Given the description of an element on the screen output the (x, y) to click on. 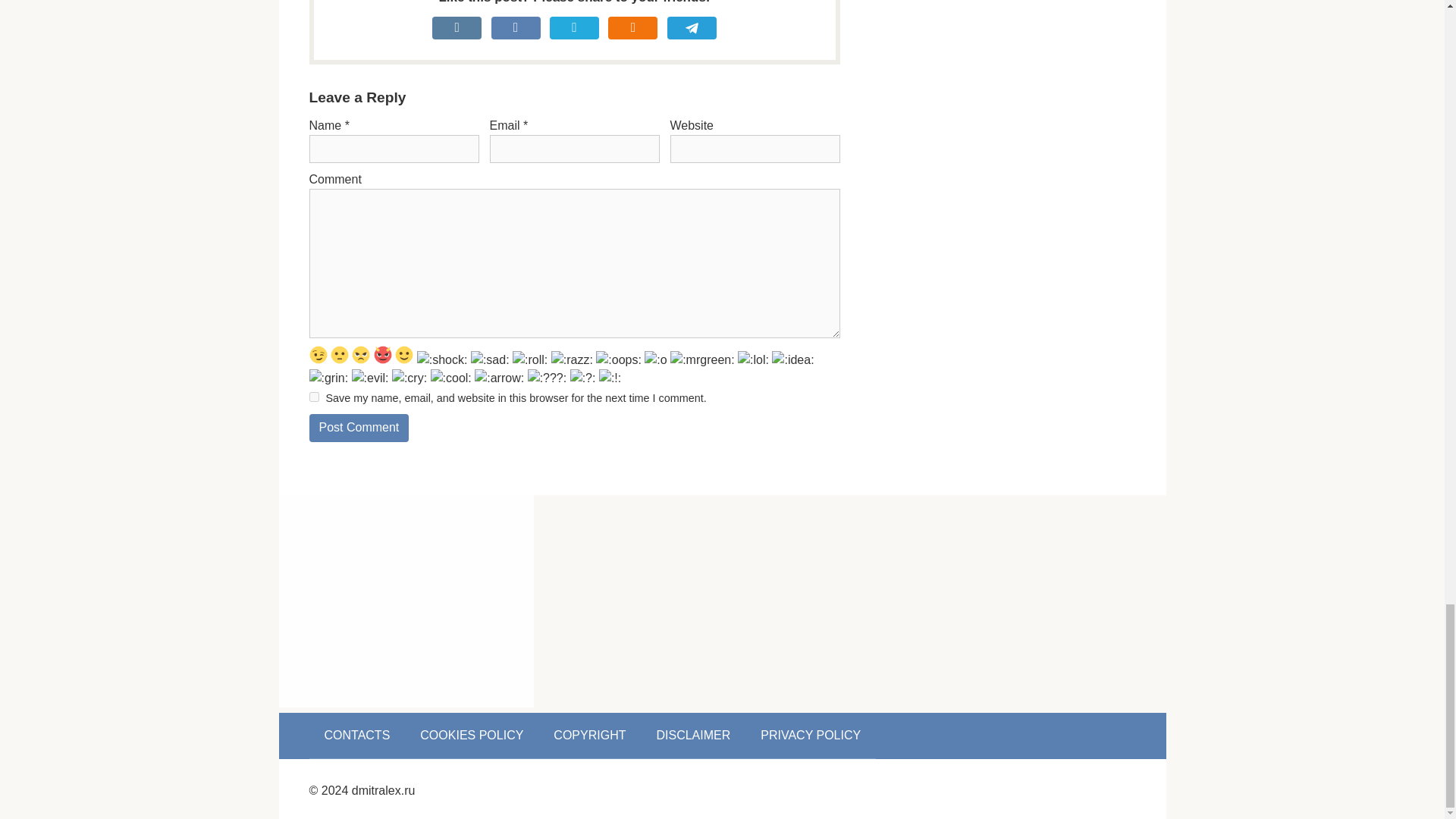
yes (313, 397)
Post Comment (358, 428)
Post Comment (358, 428)
